Given the description of an element on the screen output the (x, y) to click on. 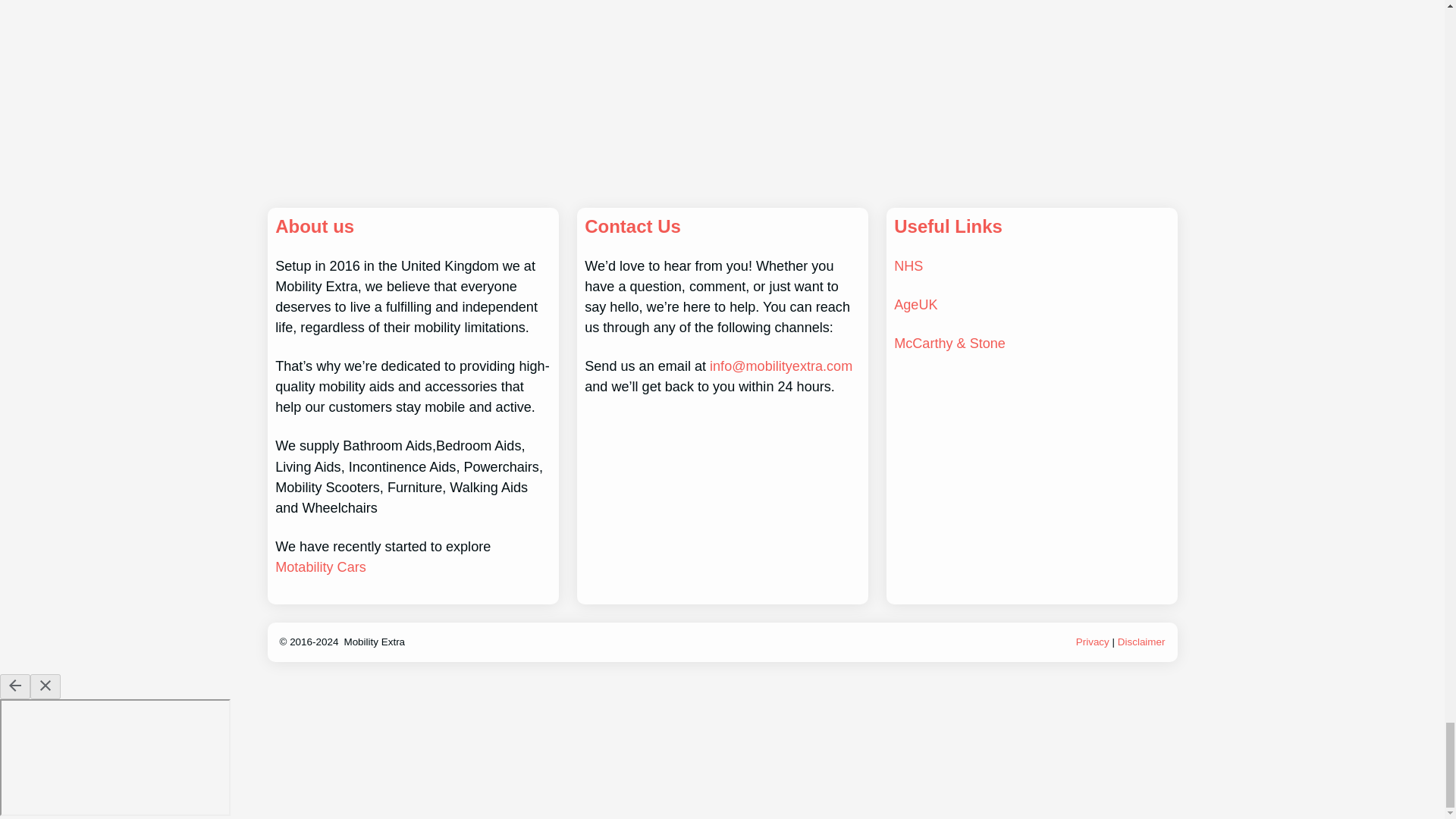
NHS (908, 265)
AgeUK (915, 304)
Privacy (1093, 641)
Motability Cars (320, 566)
Mobility Extra (373, 641)
Disclaimer (1142, 641)
